Given the description of an element on the screen output the (x, y) to click on. 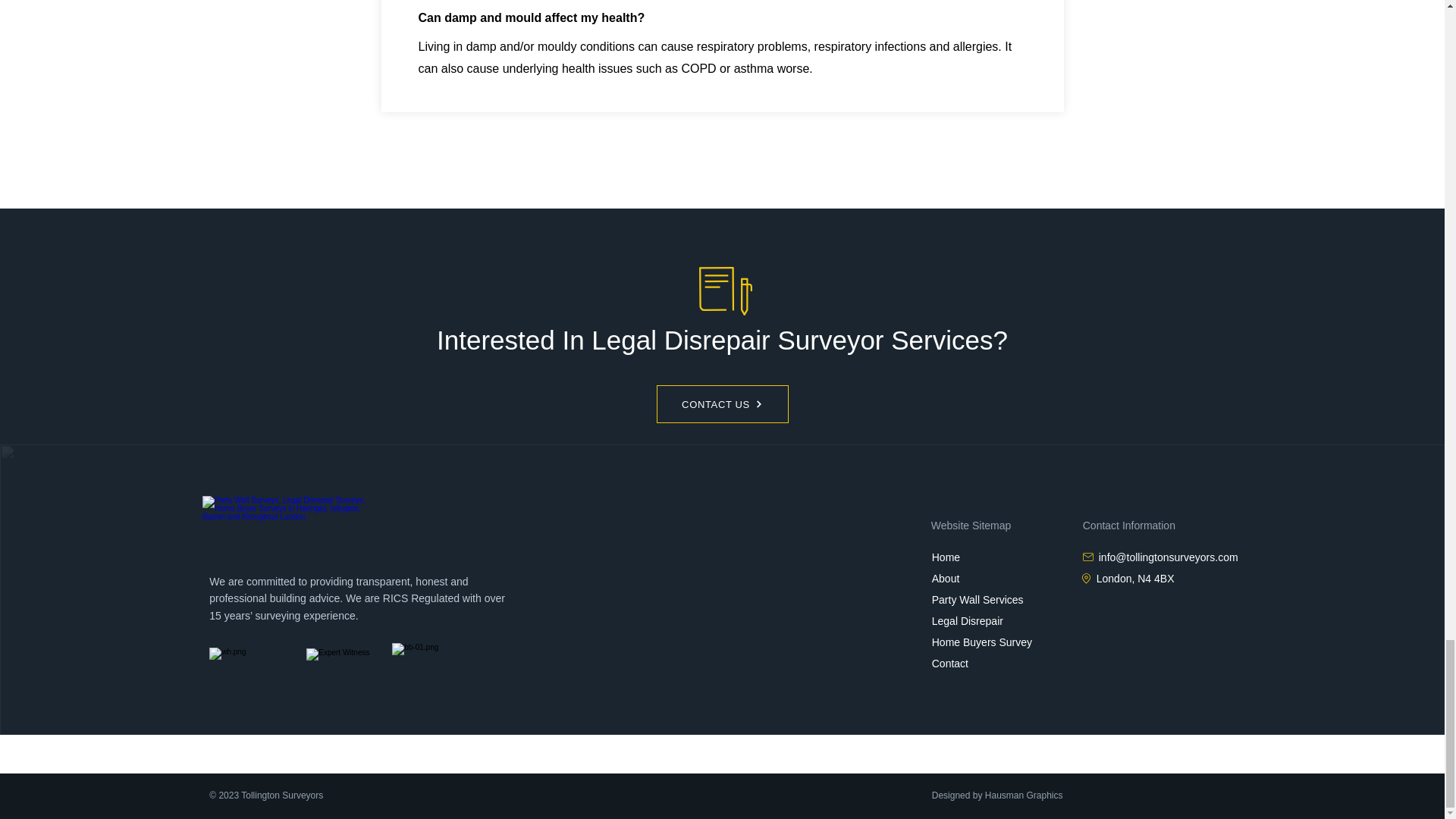
Party Wall Services (977, 599)
Tollington Surveyors (293, 526)
Designed by Hausman Graphics (996, 795)
CONTACT US (722, 403)
Home (945, 557)
Contact (949, 663)
Legal Disrepair  (968, 621)
Home Buyers Survey (981, 642)
About (945, 578)
